Given the description of an element on the screen output the (x, y) to click on. 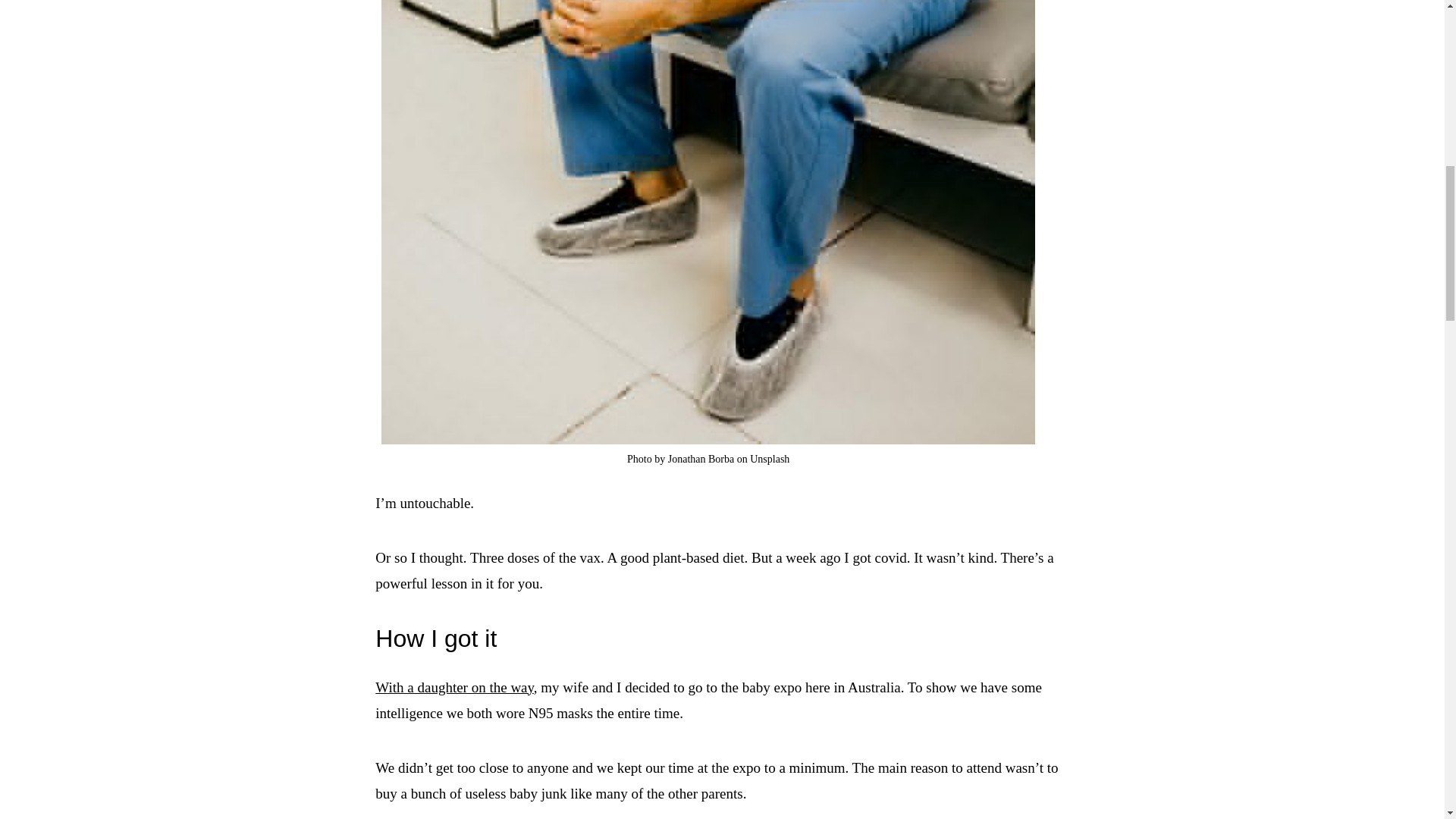
With a daughter on the way (454, 687)
